Given the description of an element on the screen output the (x, y) to click on. 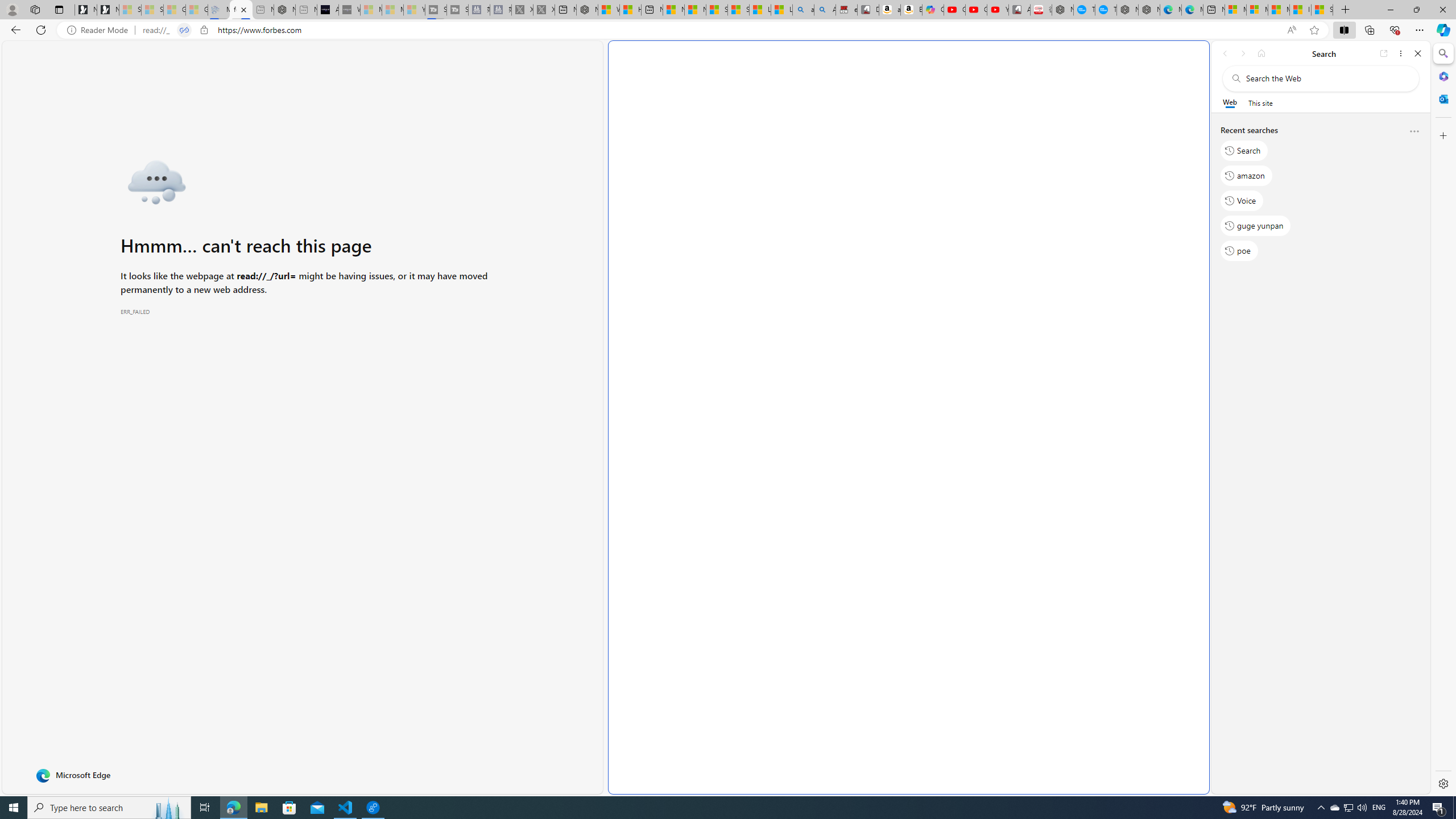
Nordace - Nordace has arrived Hong Kong (1149, 9)
amazon (1246, 175)
Voice (1241, 200)
YouTube Kids - An App Created for Kids to Explore Content (997, 9)
Huge shark washes ashore at New York City beach | Watch (630, 9)
This site scope (1259, 102)
amazon.in/dp/B0CX59H5W7/?tag=gsmcom05-21 (889, 9)
I Gained 20 Pounds of Muscle in 30 Days! | Watch (1300, 9)
